Given the description of an element on the screen output the (x, y) to click on. 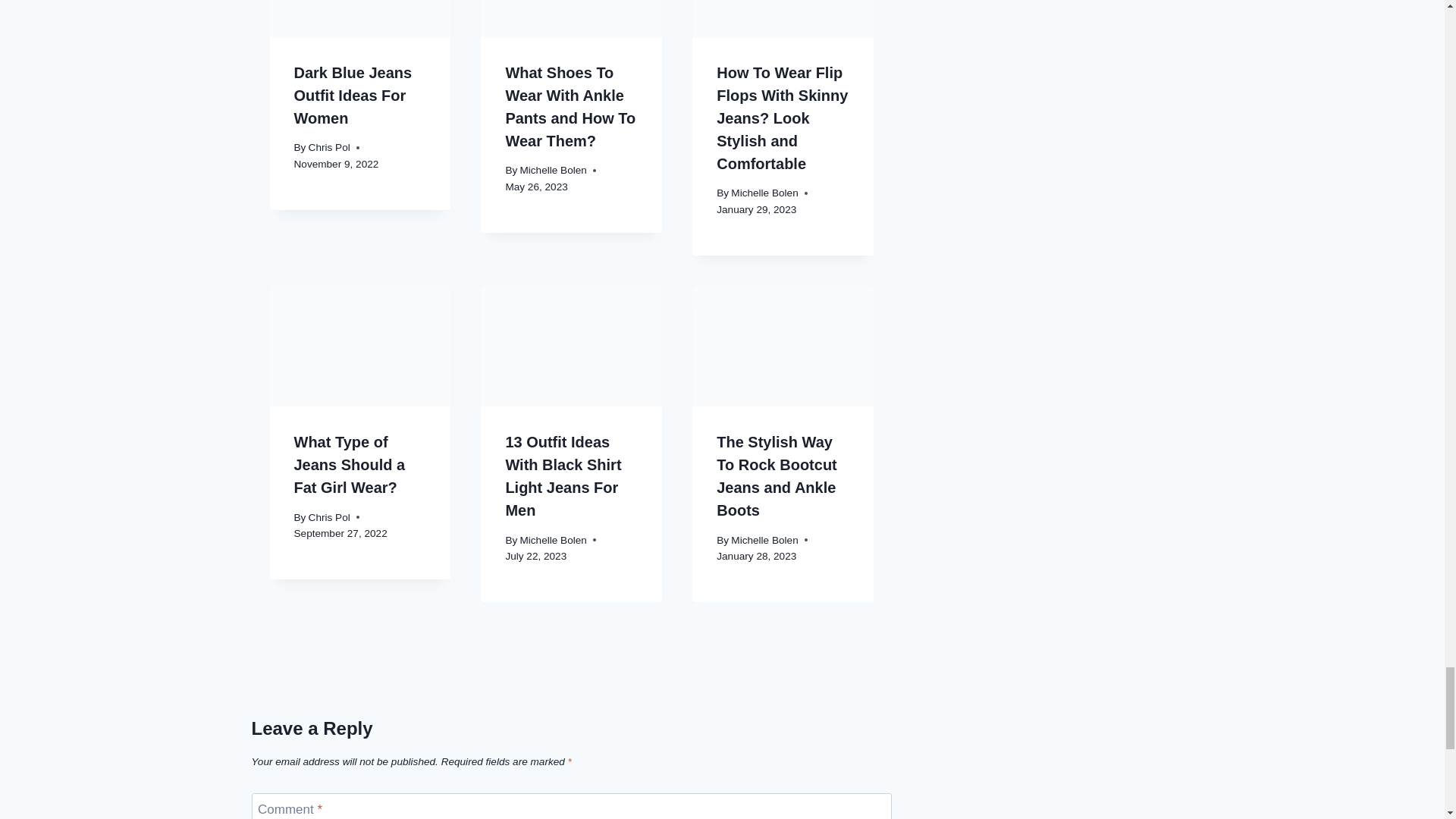
Chris Pol (329, 147)
Michelle Bolen (552, 170)
What Shoes To Wear With Ankle Pants and How To Wear Them? (569, 106)
Dark Blue Jeans Outfit Ideas For Women (353, 95)
